Given the description of an element on the screen output the (x, y) to click on. 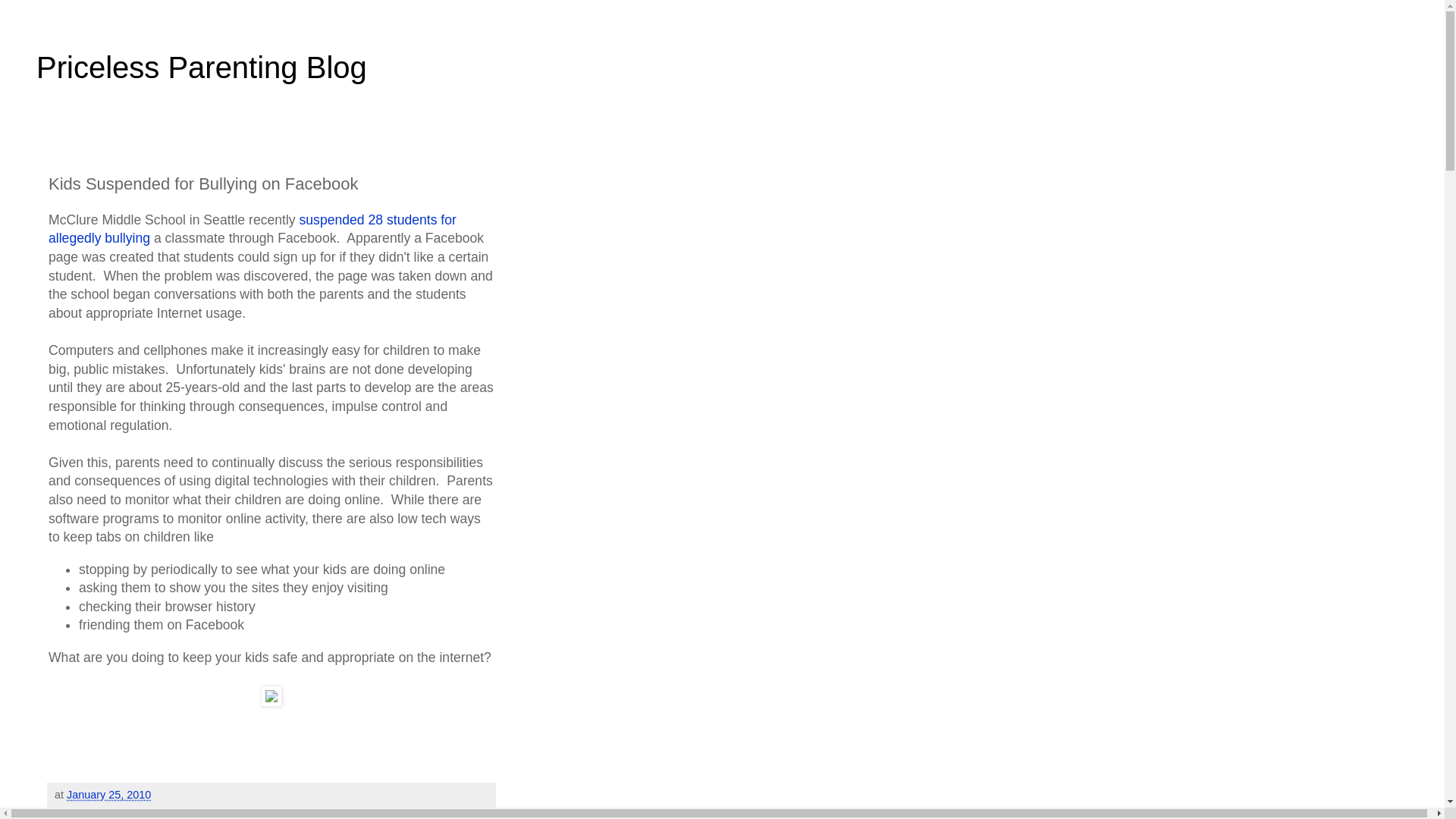
Share to Twitter (189, 811)
Priceless Parenting Blog (201, 67)
January 25, 2010 (108, 794)
Email This (79, 811)
BlogThis! (127, 811)
Share to Pinterest (362, 811)
suspended 28 students for allegedly bullying (252, 229)
Share to Pinterest (362, 811)
Share to Facebook (272, 811)
BlogThis! (127, 811)
